Given the description of an element on the screen output the (x, y) to click on. 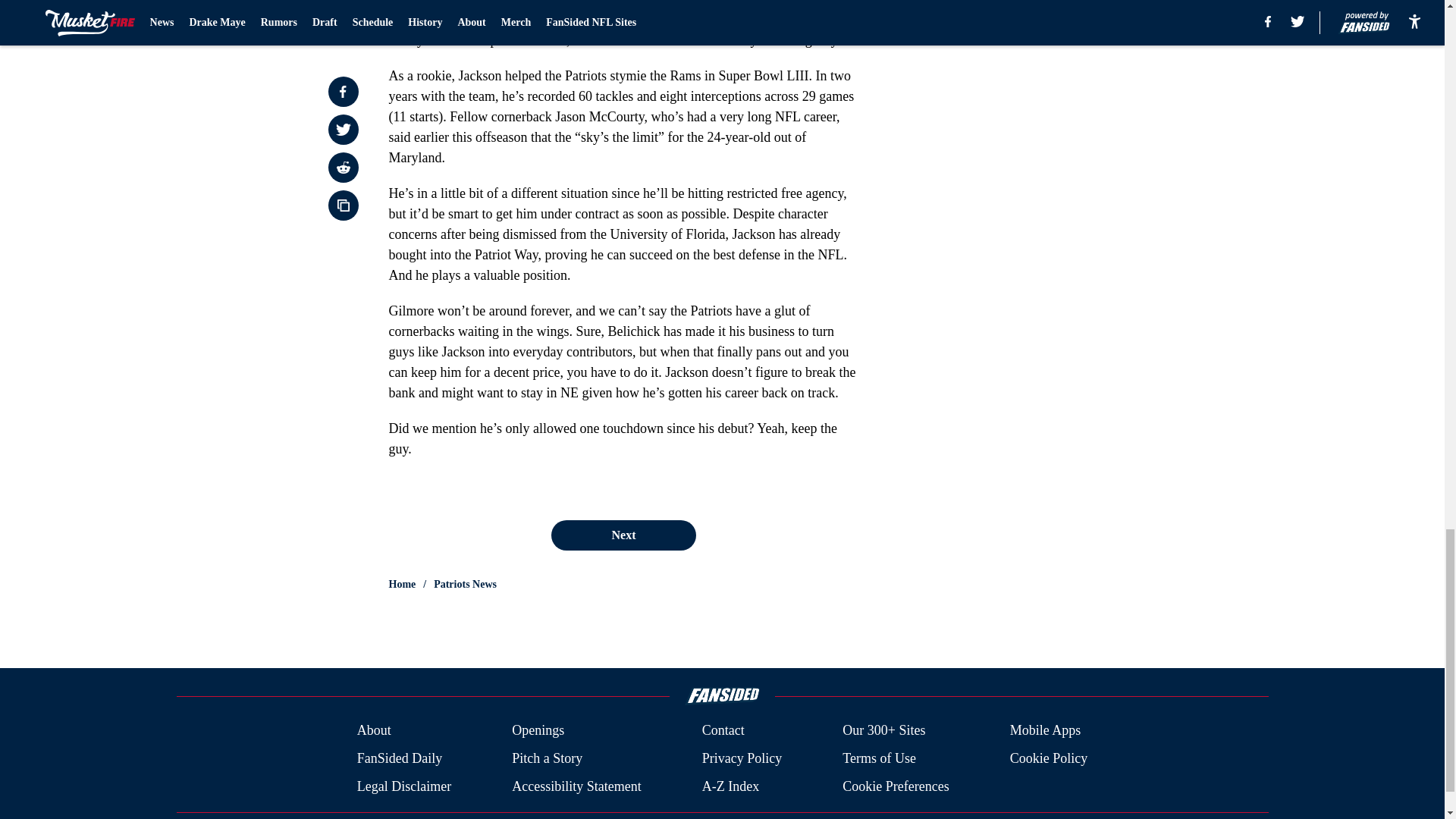
Patriots News (464, 584)
Legal Disclaimer (403, 786)
Home (401, 584)
JC Jackson (648, 3)
Privacy Policy (742, 758)
FanSided Daily (399, 758)
Terms of Use (879, 758)
Openings (538, 730)
Mobile Apps (1045, 730)
Next (622, 535)
